Given the description of an element on the screen output the (x, y) to click on. 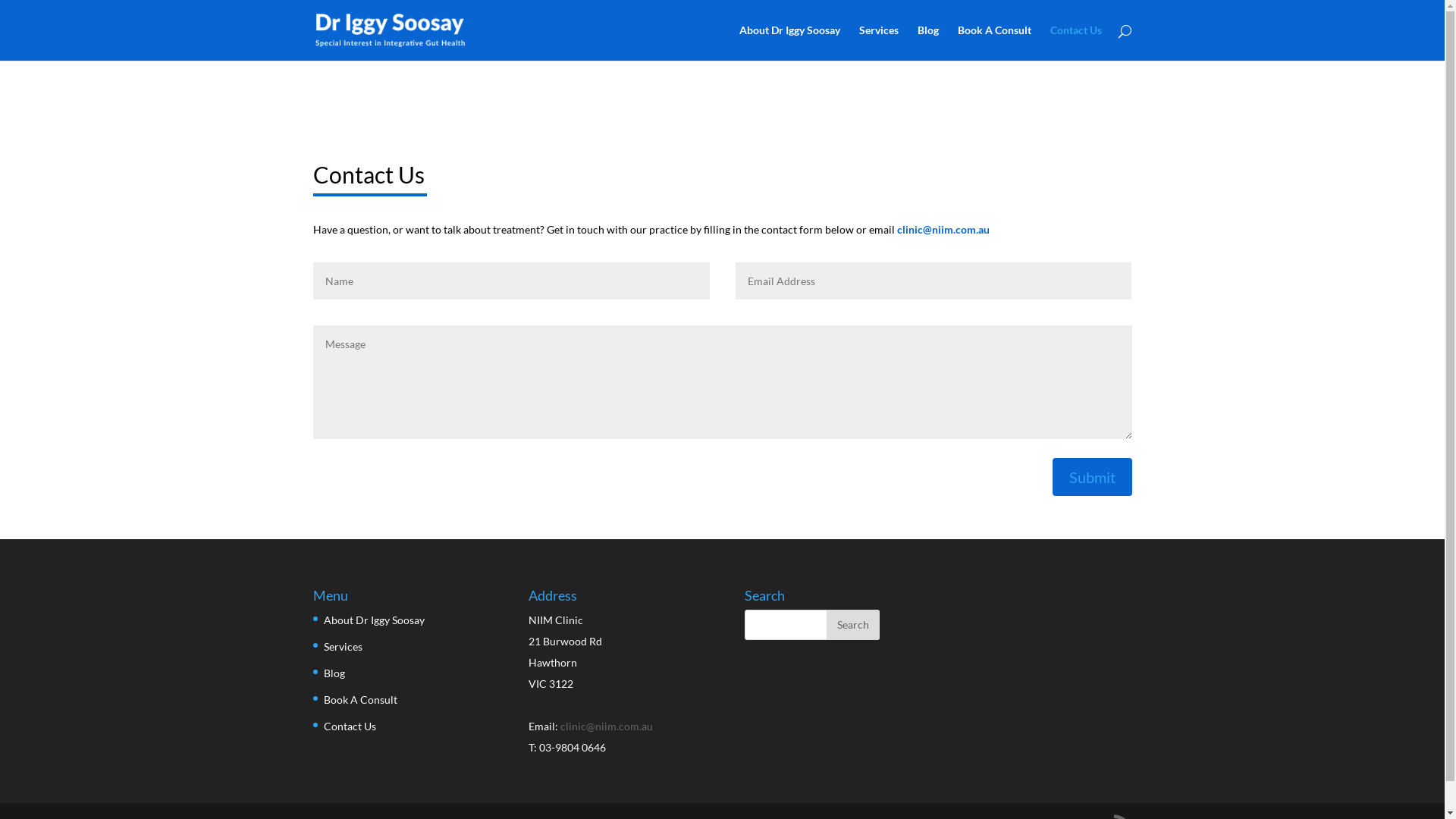
Book A Consult Element type: text (359, 699)
Submit Element type: text (1092, 476)
About Dr Iggy Soosay Element type: text (788, 42)
Contact Us Element type: text (349, 725)
Blog Element type: text (927, 42)
Book A Consult Element type: text (993, 42)
clinic@niim.com.au Element type: text (606, 725)
Search Element type: text (852, 624)
clinic@niim.com.au Element type: text (942, 228)
Services Element type: text (342, 646)
Blog Element type: text (333, 672)
Contact Us Element type: text (1075, 42)
Services Element type: text (877, 42)
About Dr Iggy Soosay Element type: text (373, 619)
